Given the description of an element on the screen output the (x, y) to click on. 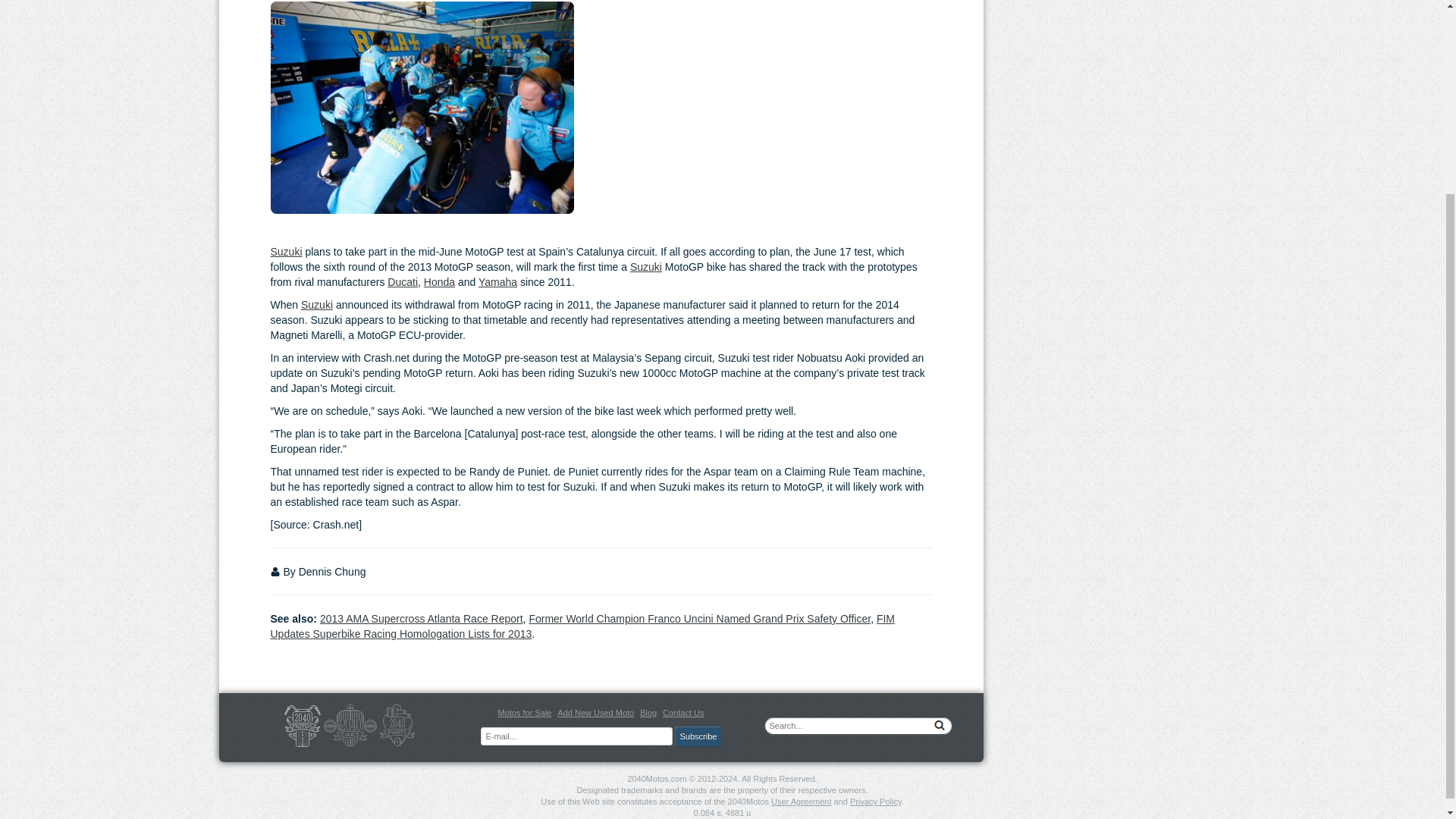
Blog (648, 712)
Honda (438, 282)
FIM Updates Superbike Racing Homologation Lists for 2013 (582, 625)
Yamaha (497, 282)
Privacy Policy (875, 800)
Subscribe (697, 736)
Suzuki (317, 304)
2013 AMA Supercross Atlanta Race Report (421, 618)
Advertisement (751, 107)
Add New Used Moto (595, 712)
